Given the description of an element on the screen output the (x, y) to click on. 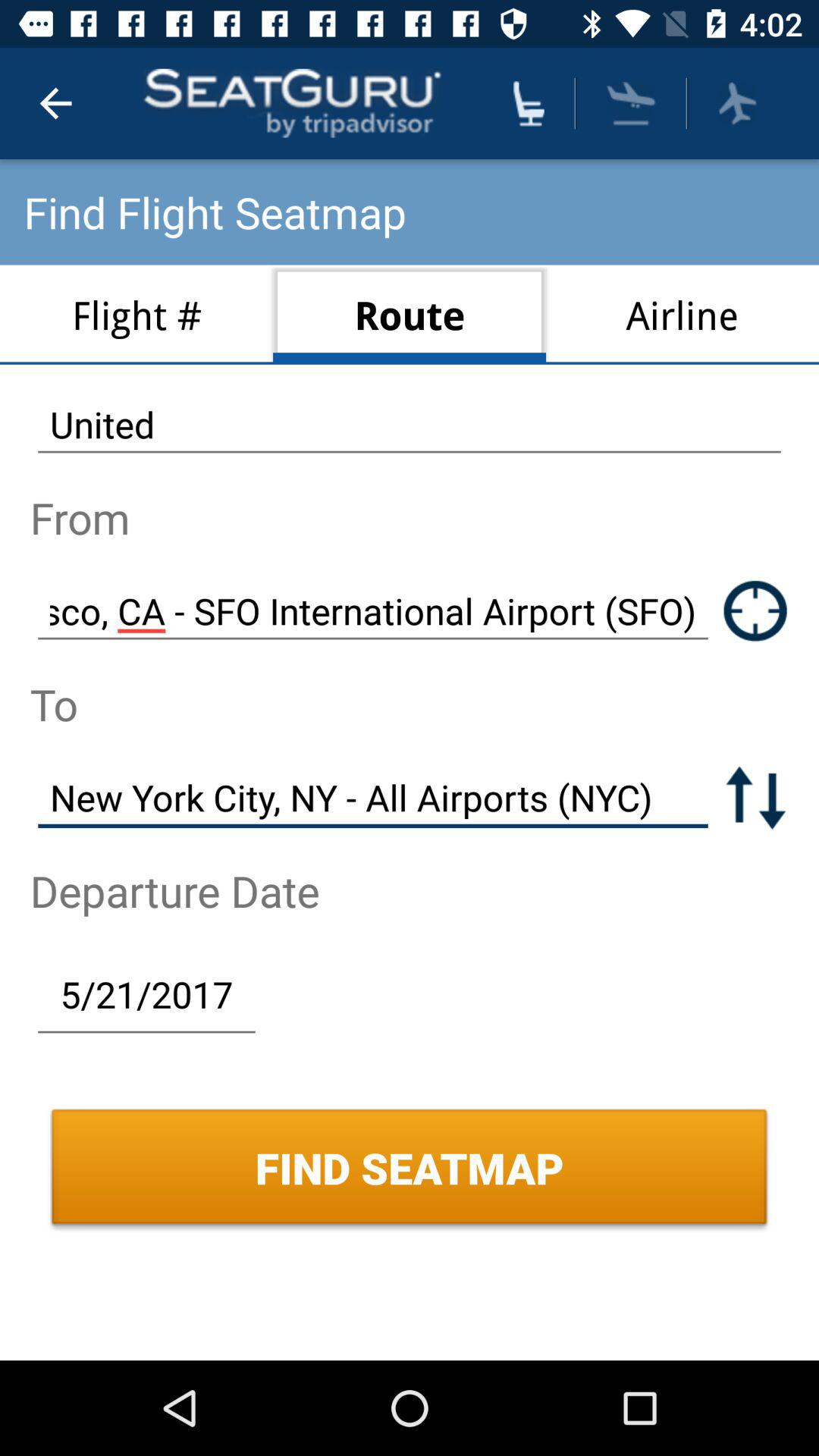
show map (755, 610)
